Given the description of an element on the screen output the (x, y) to click on. 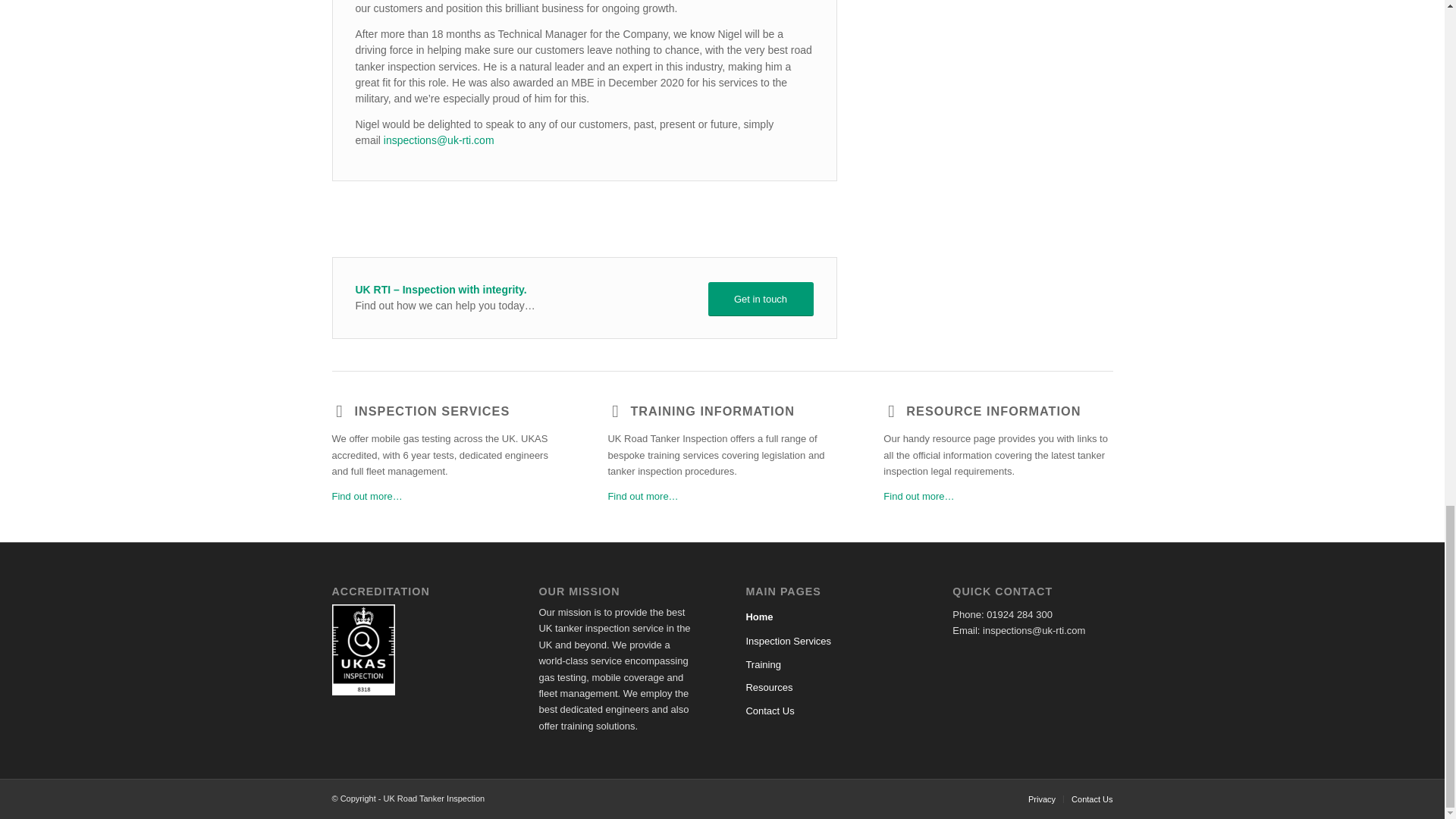
Privacy (1041, 798)
Training (642, 496)
Home (825, 616)
Contact Us (825, 711)
Get in touch (760, 298)
Resource Information (992, 410)
Resources (825, 687)
RESOURCE INFORMATION (992, 410)
TRAINING INFORMATION (711, 410)
INSPECTION SERVICES (433, 410)
Inspection Services (433, 410)
Inspection Services (825, 640)
Inspection Services (367, 496)
Training Information (711, 410)
Training (825, 664)
